Given the description of an element on the screen output the (x, y) to click on. 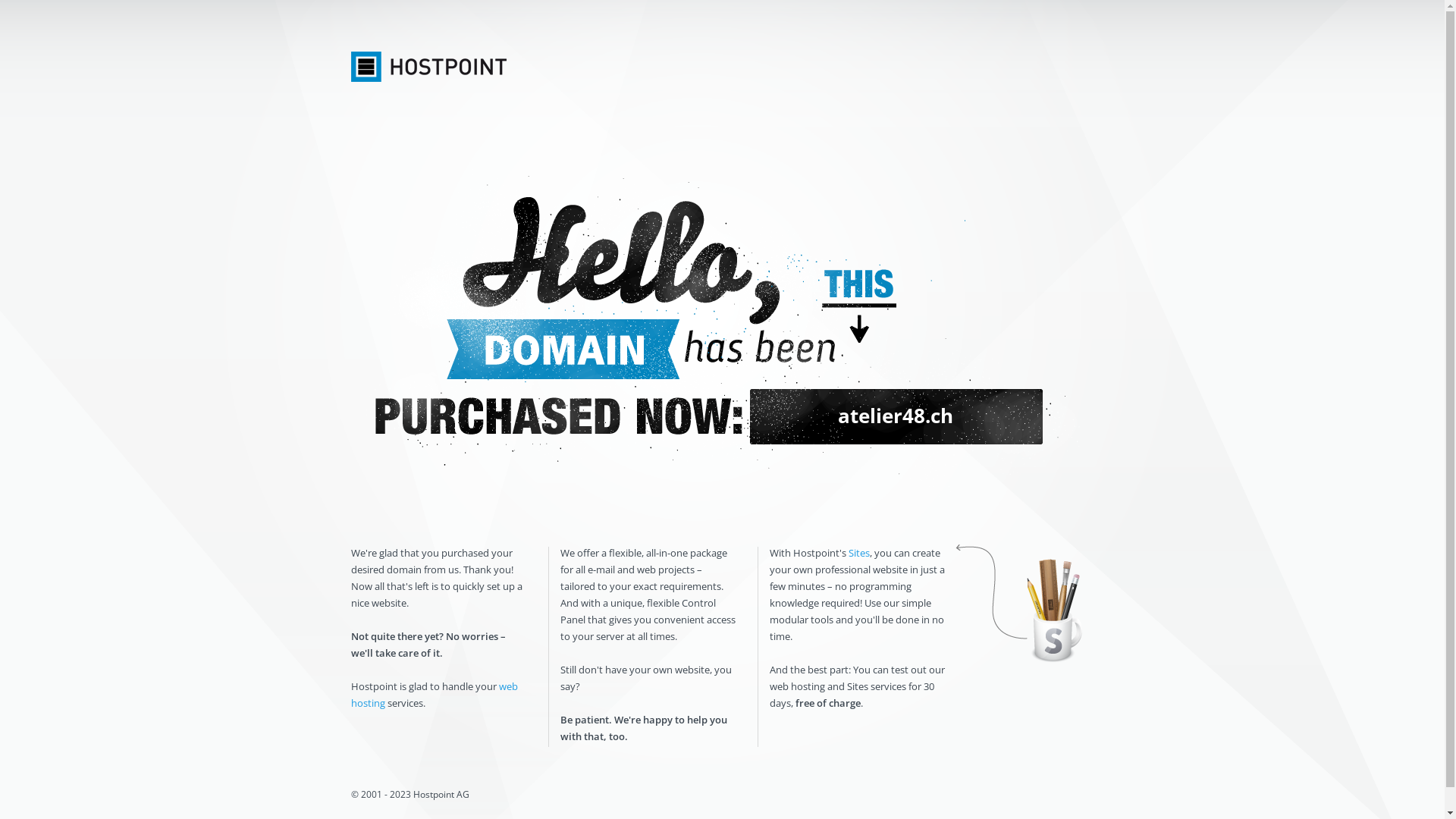
web hosting Element type: text (433, 694)
Sites Element type: text (858, 552)
